Given the description of an element on the screen output the (x, y) to click on. 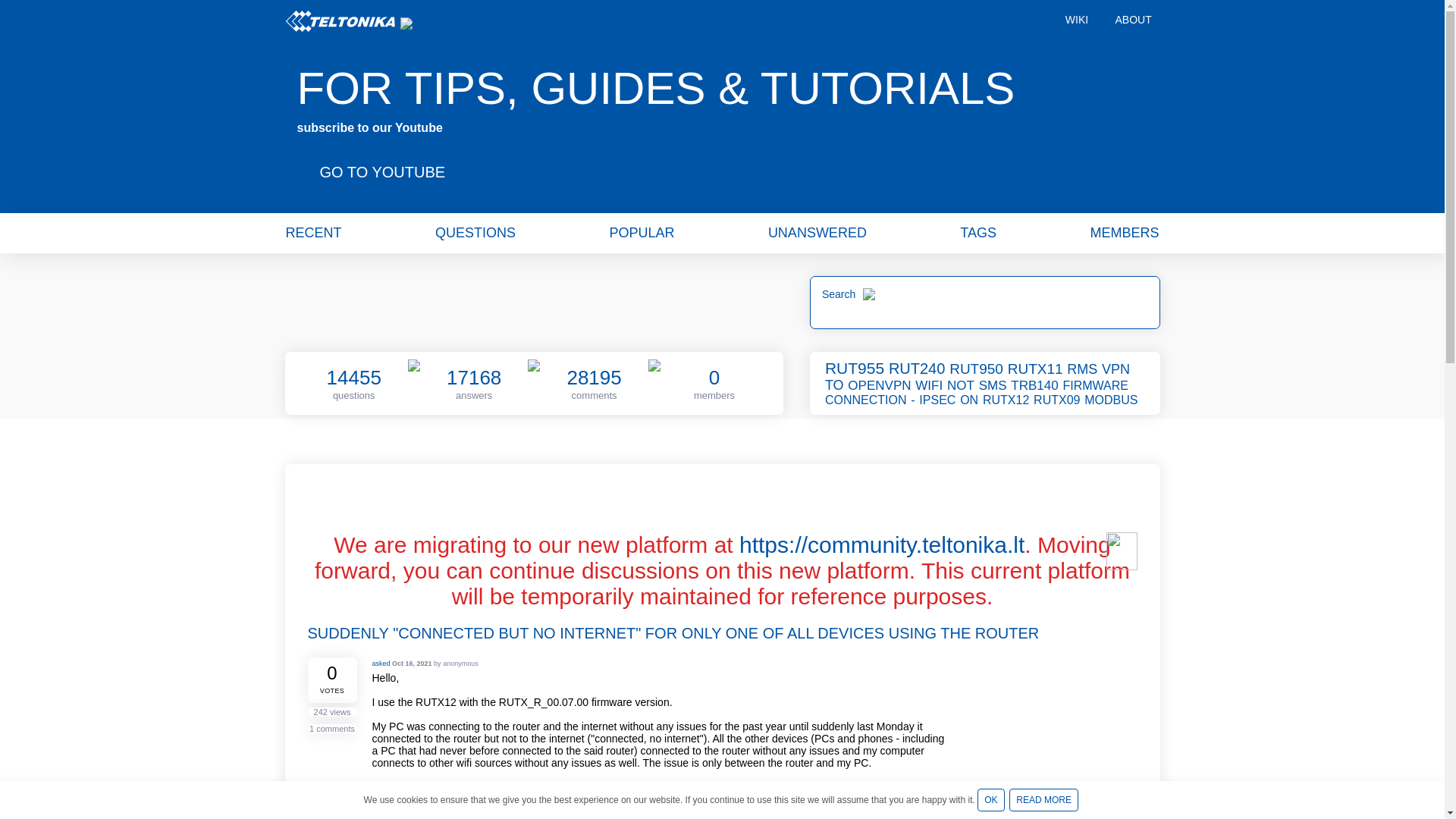
TO (835, 385)
Click to vote down (349, 691)
POPULAR (641, 232)
GO TO YOUTUBE (382, 171)
NOT (961, 385)
RUTX12 (1006, 399)
WIKI (1077, 21)
TAGS (977, 232)
RUT955 (855, 367)
ON (969, 399)
